Given the description of an element on the screen output the (x, y) to click on. 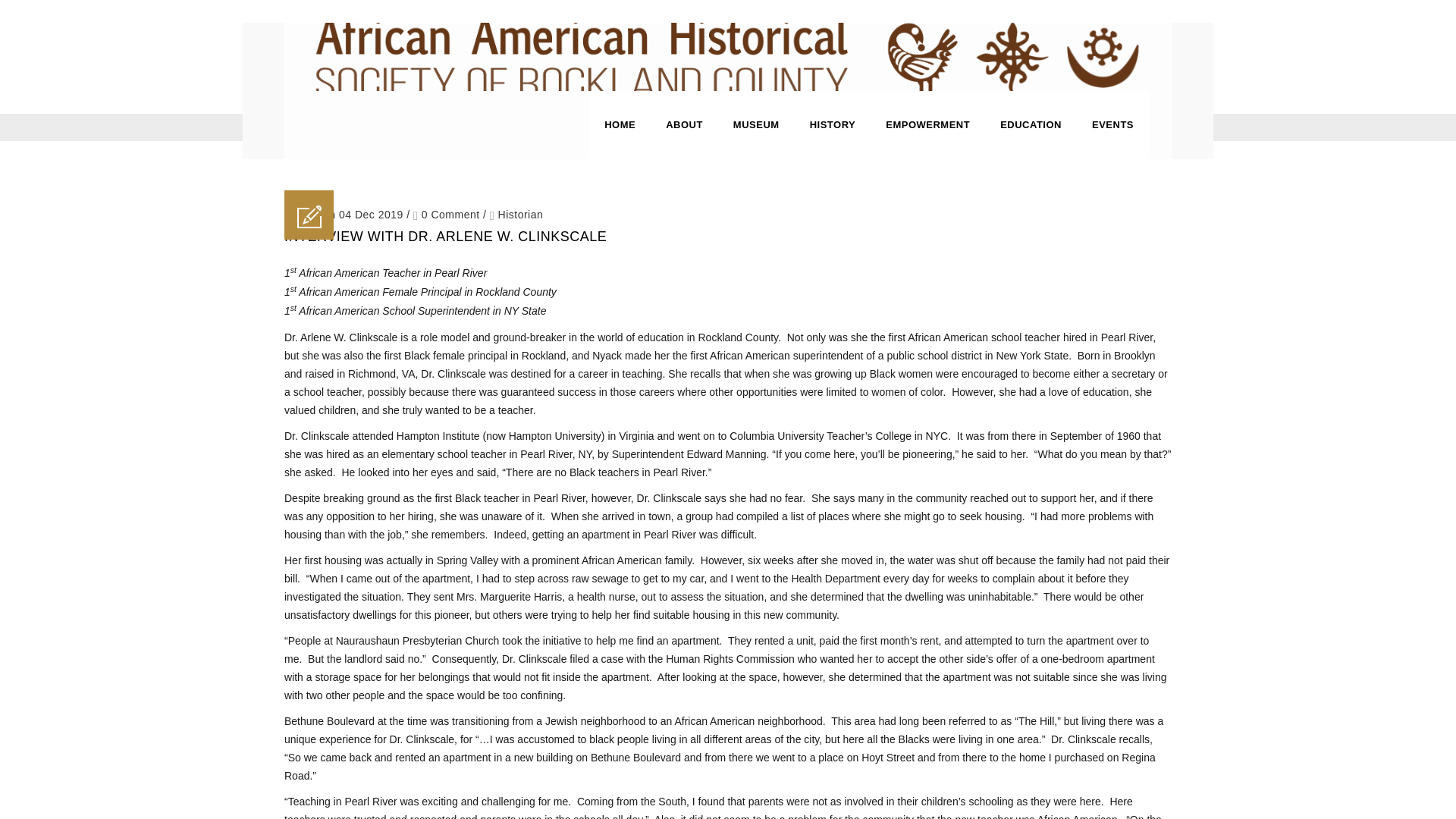
ABOUT (683, 124)
HISTORY (832, 124)
MUSEUM (755, 124)
INTERVIEW WITH DR. ARLENE W. CLINKSCALE (445, 236)
EDUCATION (1031, 124)
Permalink to Interview with Dr. Arlene W. Clinkscale (445, 236)
EVENTS (1112, 124)
AAHS of Rockland Empowerment (727, 56)
EMPOWERMENT (927, 124)
0 Comment (446, 214)
HOME (619, 124)
Historian (520, 214)
View all posts by Historian (520, 214)
AAHS of Rockland Empowerment (727, 56)
